Given the description of an element on the screen output the (x, y) to click on. 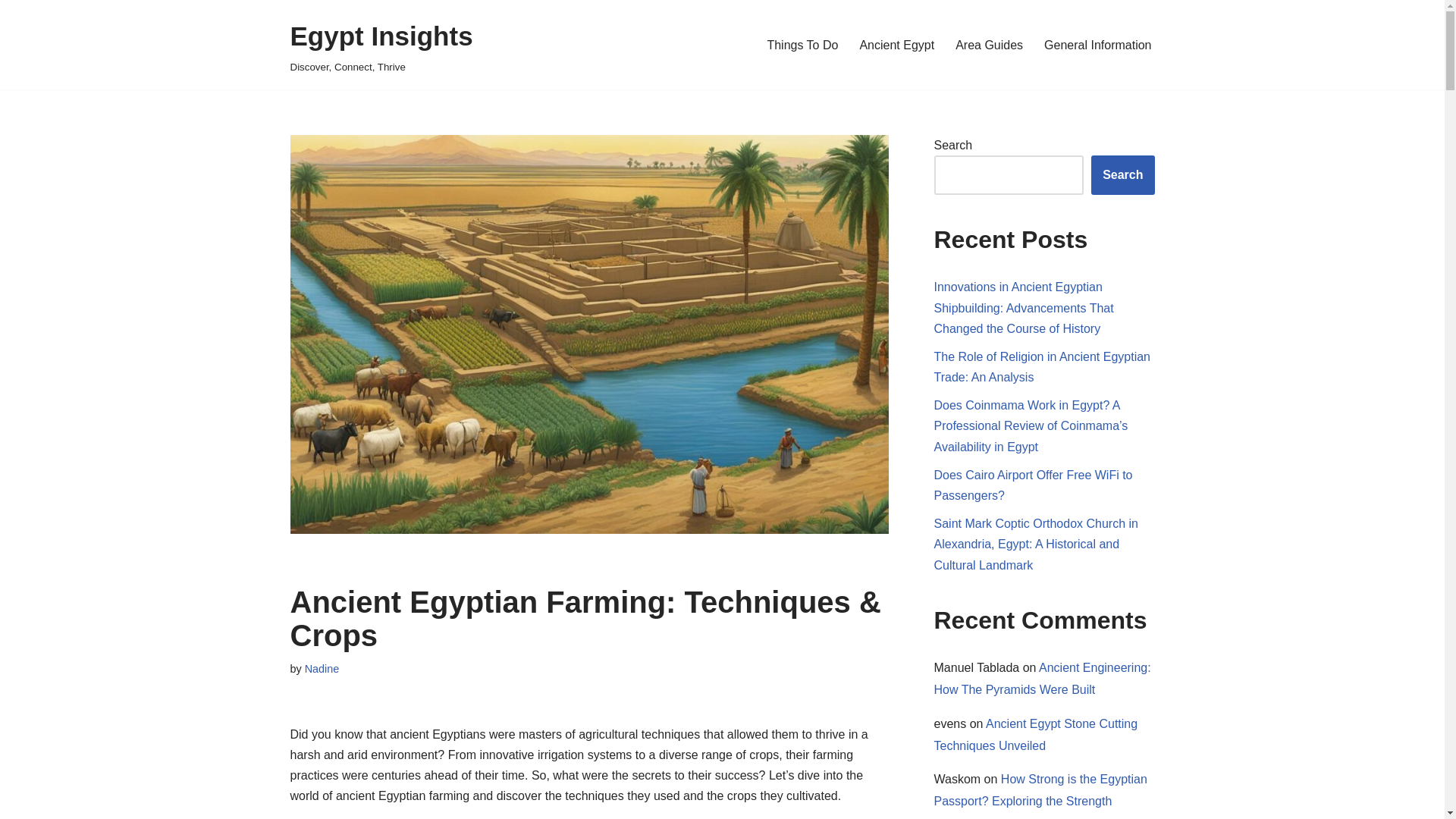
General Information (1097, 45)
Posts by Nadine (321, 668)
Area Guides (989, 45)
Things To Do (802, 45)
Ancient Egypt (896, 45)
Skip to content (11, 31)
Nadine (321, 668)
Search (1122, 174)
